Given the description of an element on the screen output the (x, y) to click on. 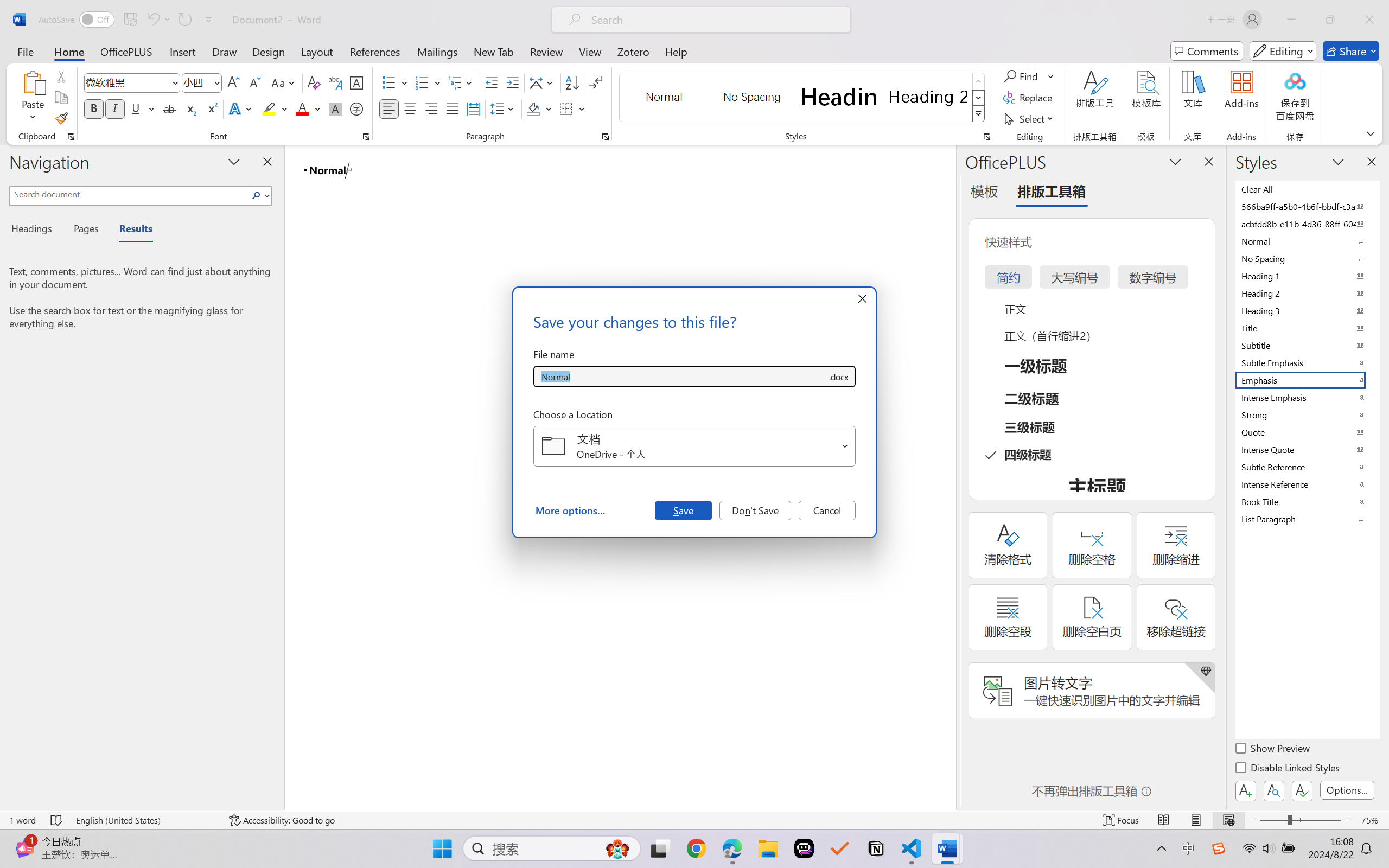
References (375, 51)
Styles (978, 113)
Undo Style (158, 19)
Print Layout (1196, 819)
Row Down (978, 97)
Quote (1306, 431)
Notion (875, 848)
Copy (60, 97)
Cancel (826, 509)
Asian Layout (542, 82)
Find (1029, 75)
